Given the description of an element on the screen output the (x, y) to click on. 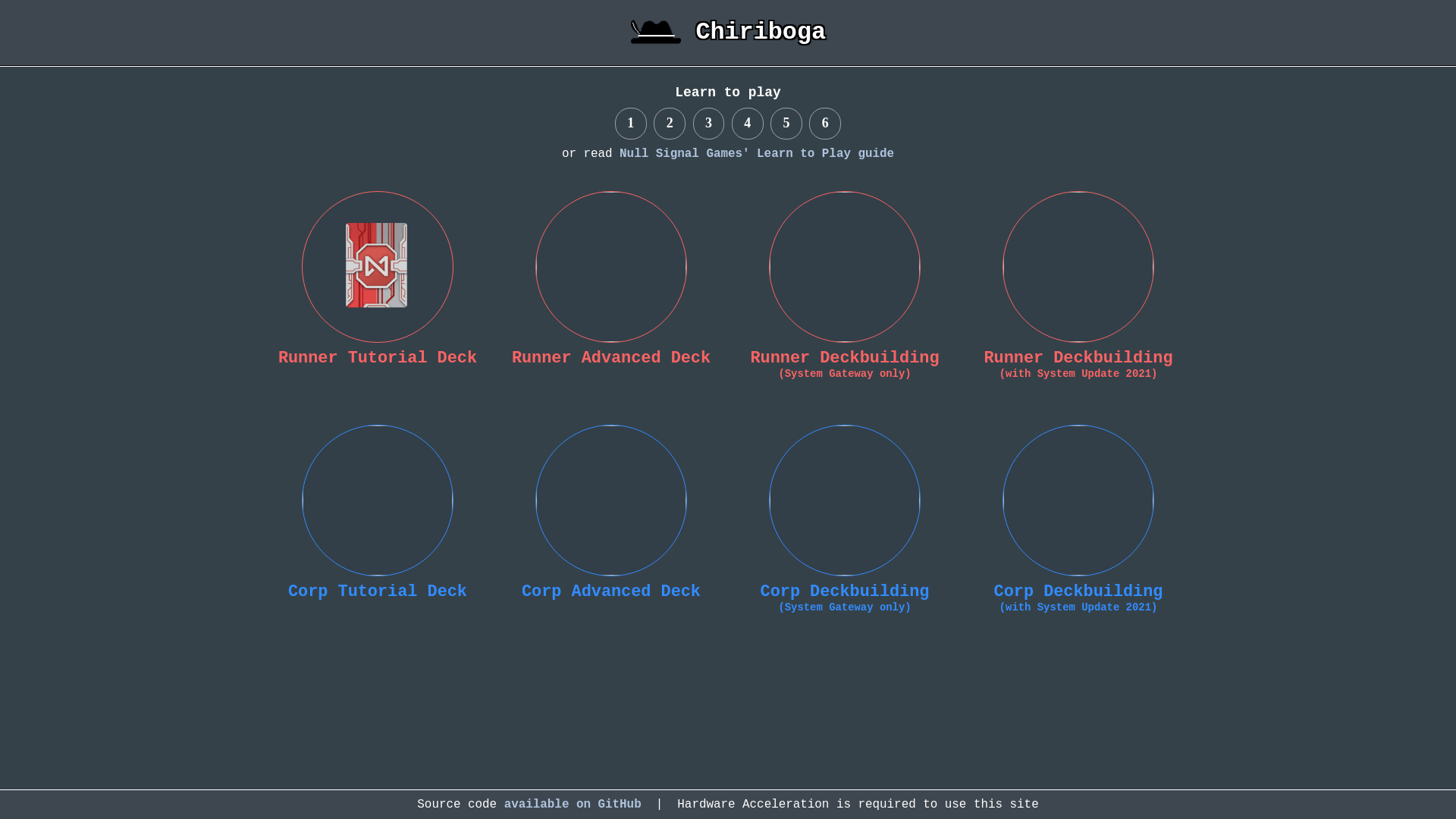
5 Element type: text (786, 123)
Chiriboga Element type: text (727, 32)
2 Element type: text (669, 123)
1 Element type: text (630, 123)
Runner Deckbuilding(with System Update 2021) Element type: text (1078, 355)
4 Element type: text (747, 123)
Corp Deckbuilding(with System Update 2021) Element type: text (1078, 589)
3 Element type: text (708, 123)
Corp Tutorial Deck Element type: text (377, 583)
Runner Tutorial Deck Element type: text (377, 349)
Null Signal Games' Learn to Play guide Element type: text (756, 153)
available on GitHub Element type: text (572, 804)
6 Element type: text (824, 123)
Corp Advanced Deck Element type: text (611, 583)
Runner Advanced Deck Element type: text (611, 349)
Corp Deckbuilding(System Gateway only) Element type: text (844, 589)
Runner Deckbuilding(System Gateway only) Element type: text (844, 355)
